Given the description of an element on the screen output the (x, y) to click on. 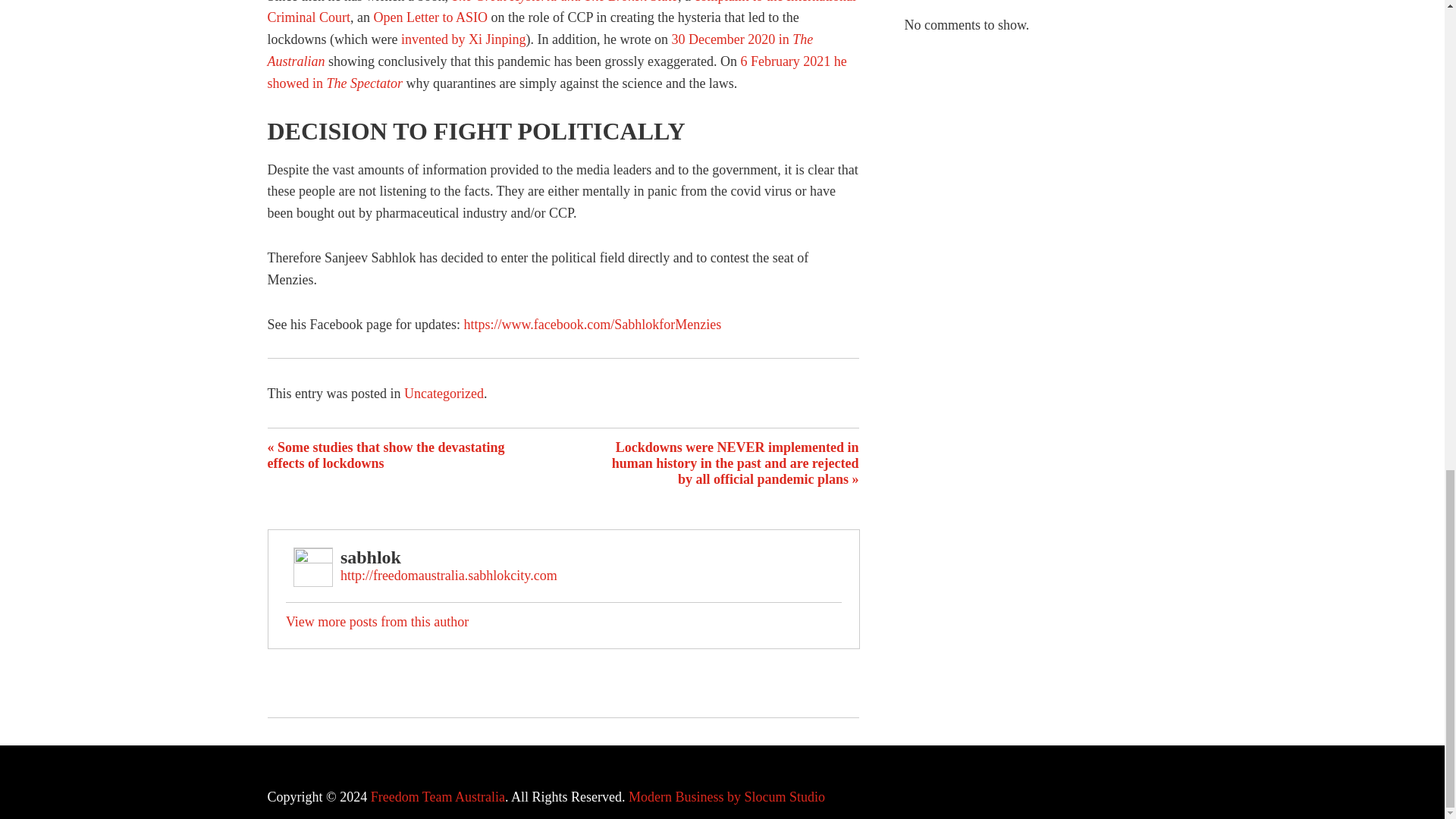
invented by Xi Jinping (463, 38)
Uncategorized (443, 393)
30 December 2020 in The Australian (539, 49)
The Great Hysteria and The Broken State (564, 2)
Open Letter to ASIO (429, 17)
6 February 2021 he showed in The Spectator (555, 72)
complaint to the International Criminal Court (561, 12)
